Given the description of an element on the screen output the (x, y) to click on. 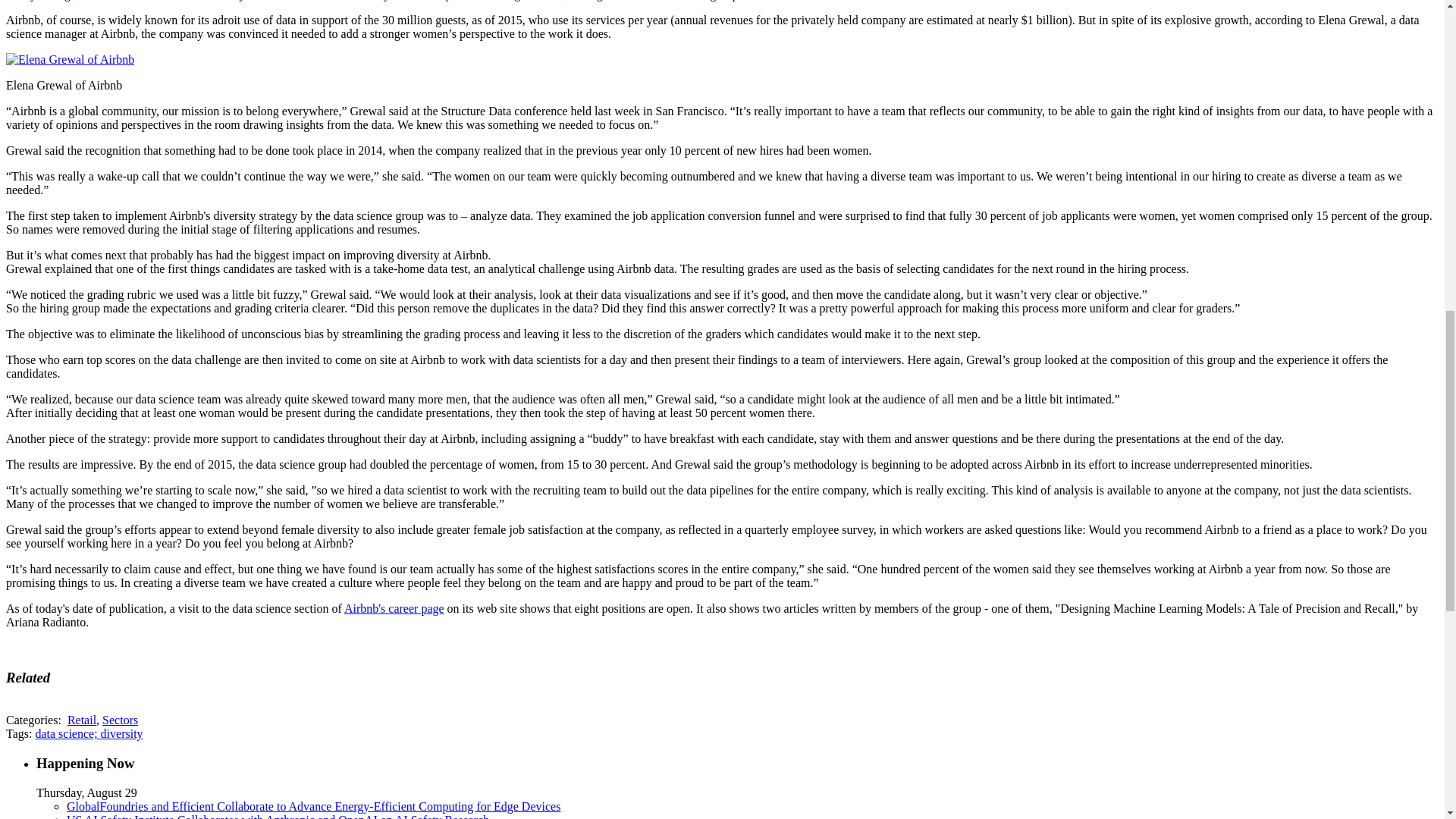
Airbnb's career page (393, 608)
